Given the description of an element on the screen output the (x, y) to click on. 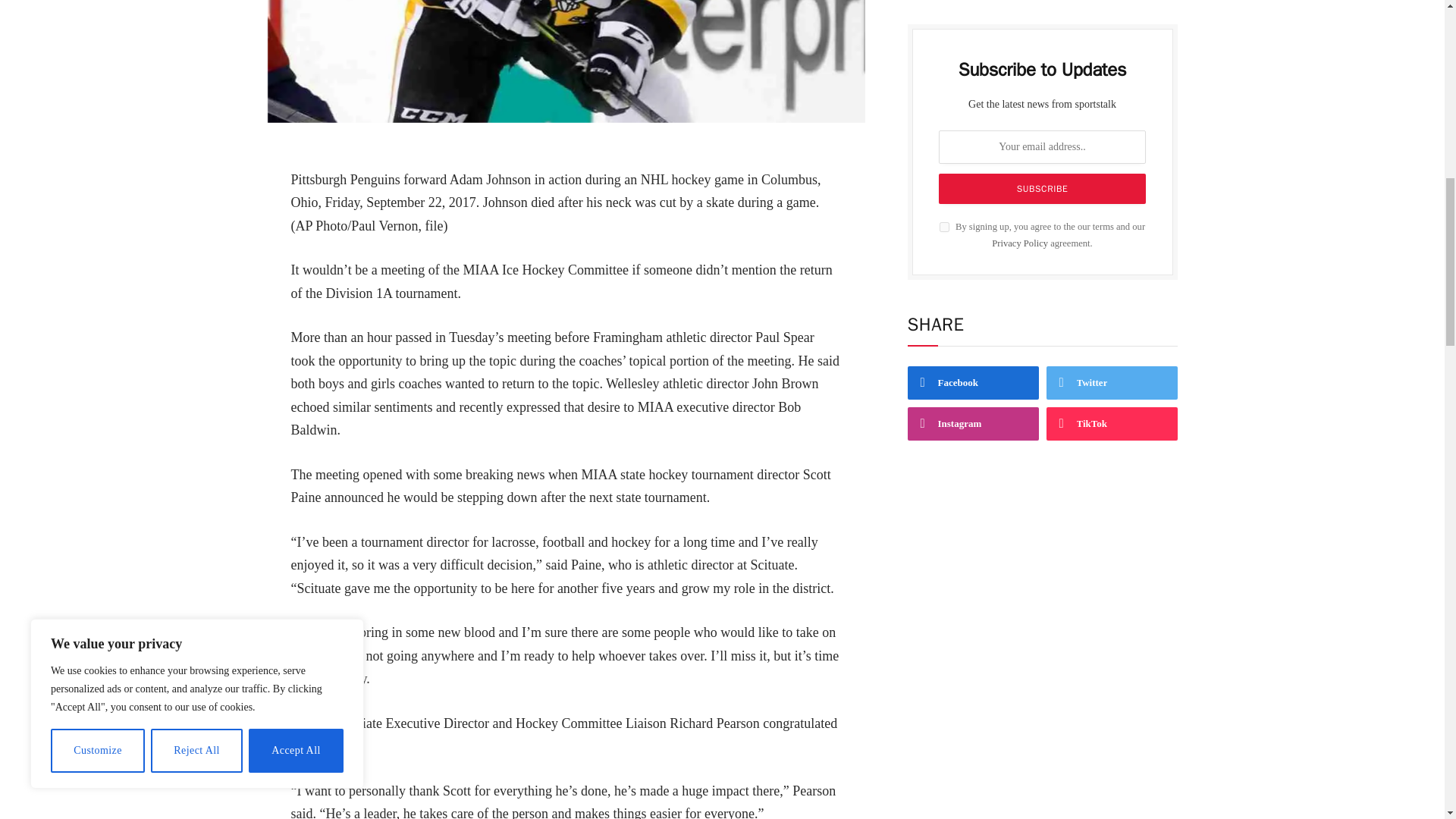
on (944, 226)
Subscribe (1043, 188)
